Given the description of an element on the screen output the (x, y) to click on. 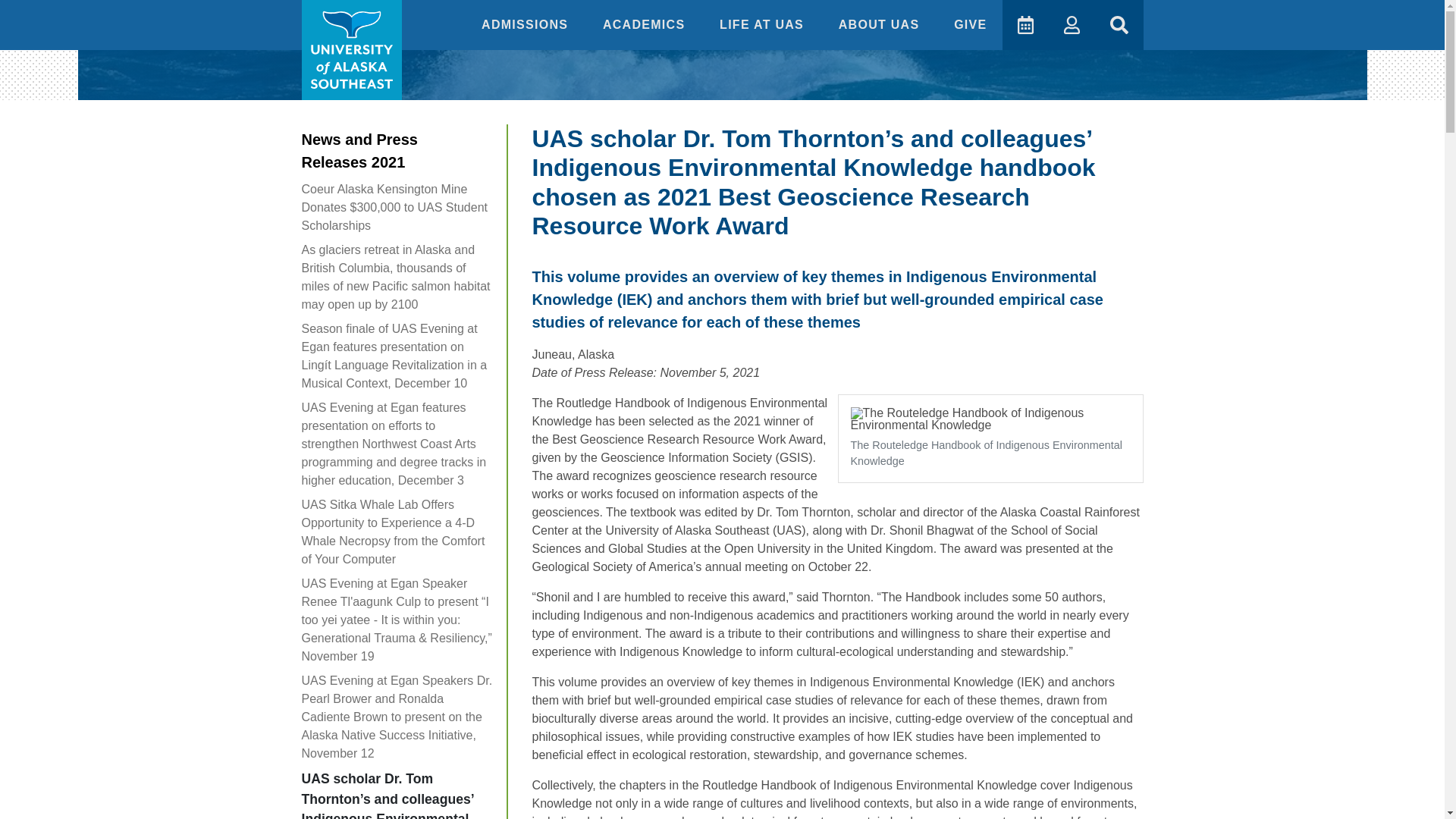
ADMISSIONS  (526, 24)
Skip to Main Content (66, 15)
ABOUT UAS  (881, 24)
Academic Calendar (1025, 24)
LIFE AT UAS  (764, 24)
ACADEMICS  (646, 24)
University of Alaska Southeast Logo (351, 49)
